Given the description of an element on the screen output the (x, y) to click on. 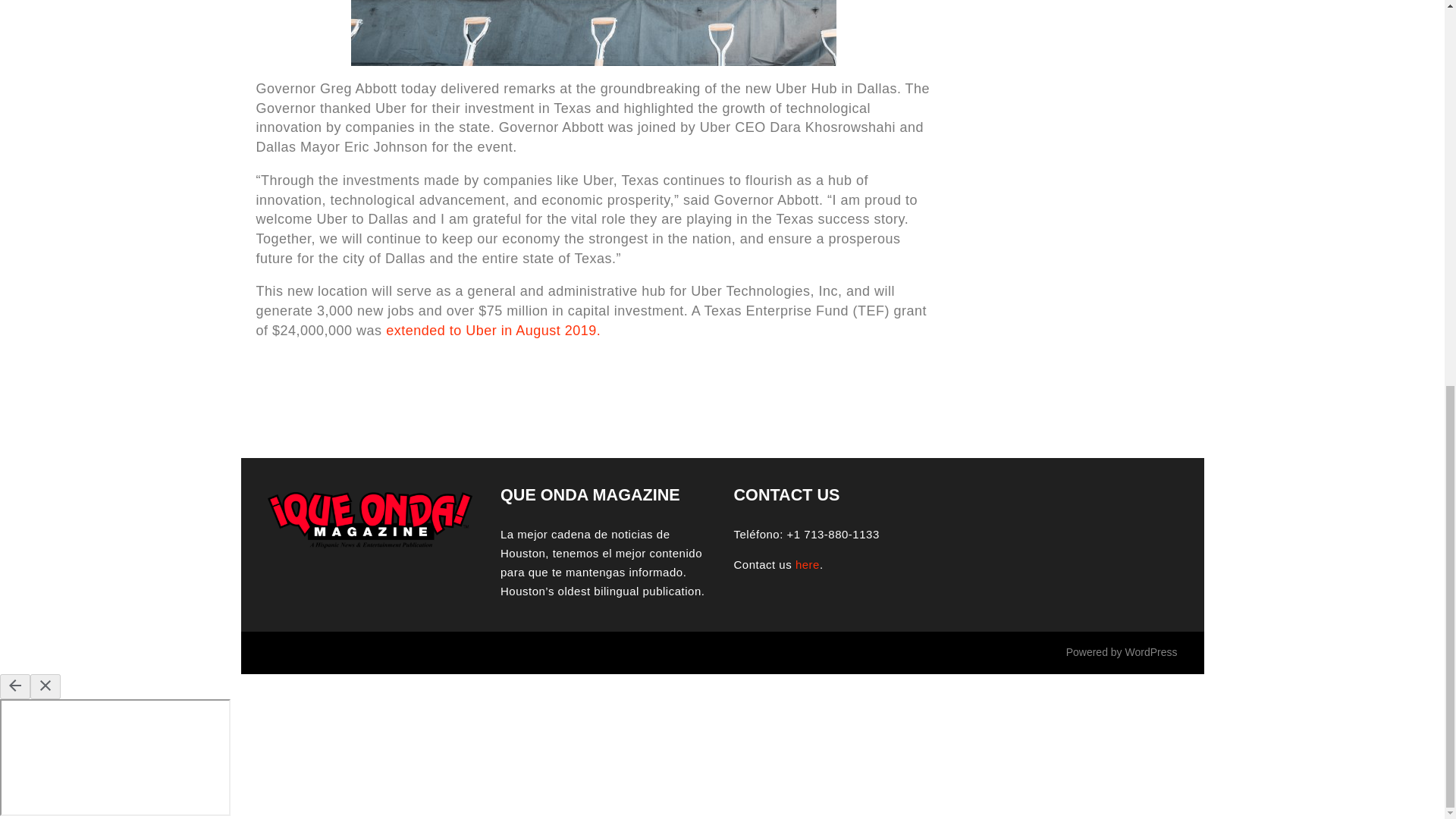
extended to Uber in August 2019. (492, 330)
WordPress (1151, 652)
here (806, 563)
